Given the description of an element on the screen output the (x, y) to click on. 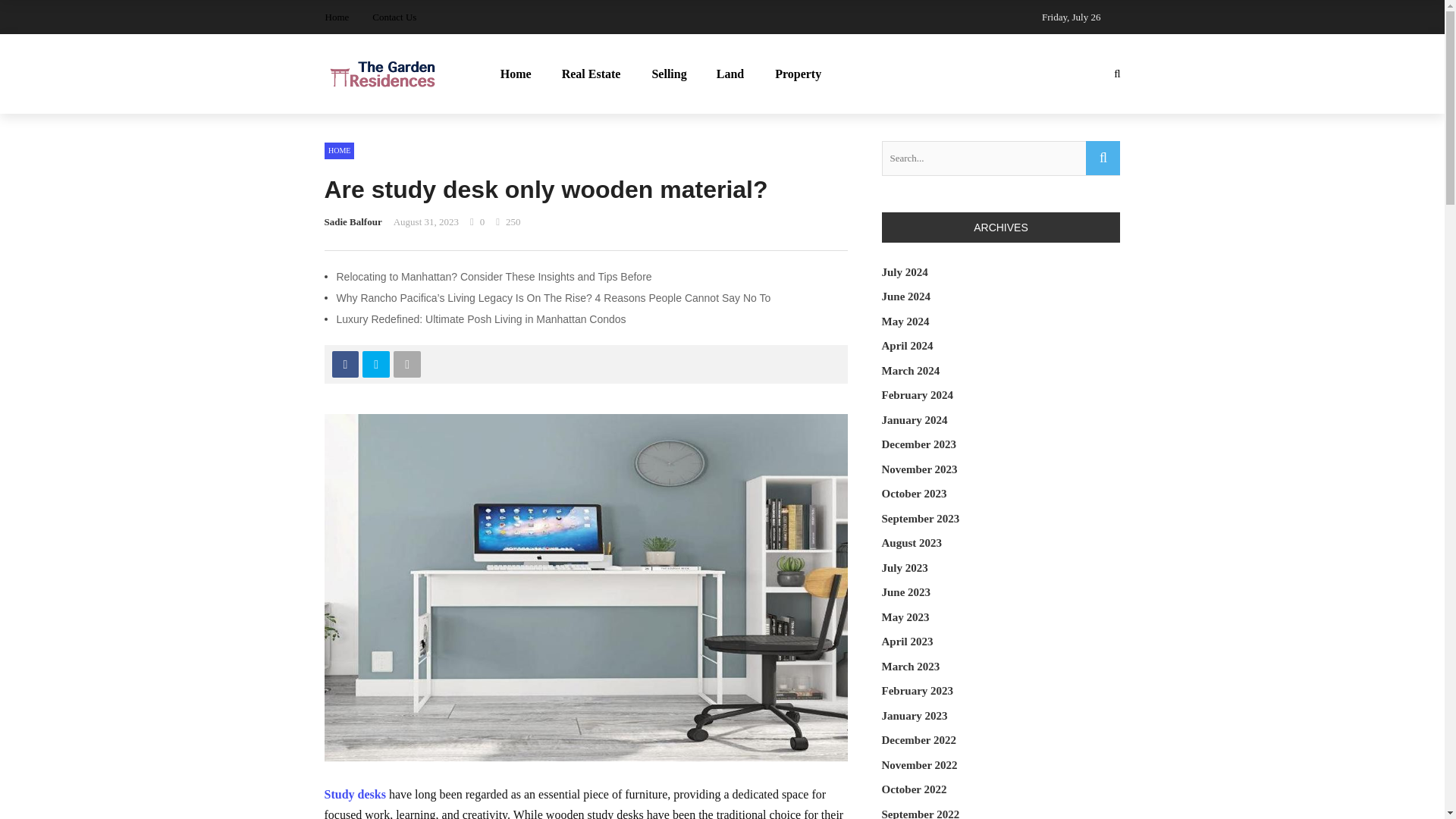
Home (336, 16)
Real Estate (591, 73)
Luxury Redefined: Ultimate Posh Living in Manhattan Condos (481, 318)
Study desks (354, 793)
Sadie Balfour (352, 221)
Property (797, 73)
Contact Us (394, 16)
HOME (338, 150)
